Given the description of an element on the screen output the (x, y) to click on. 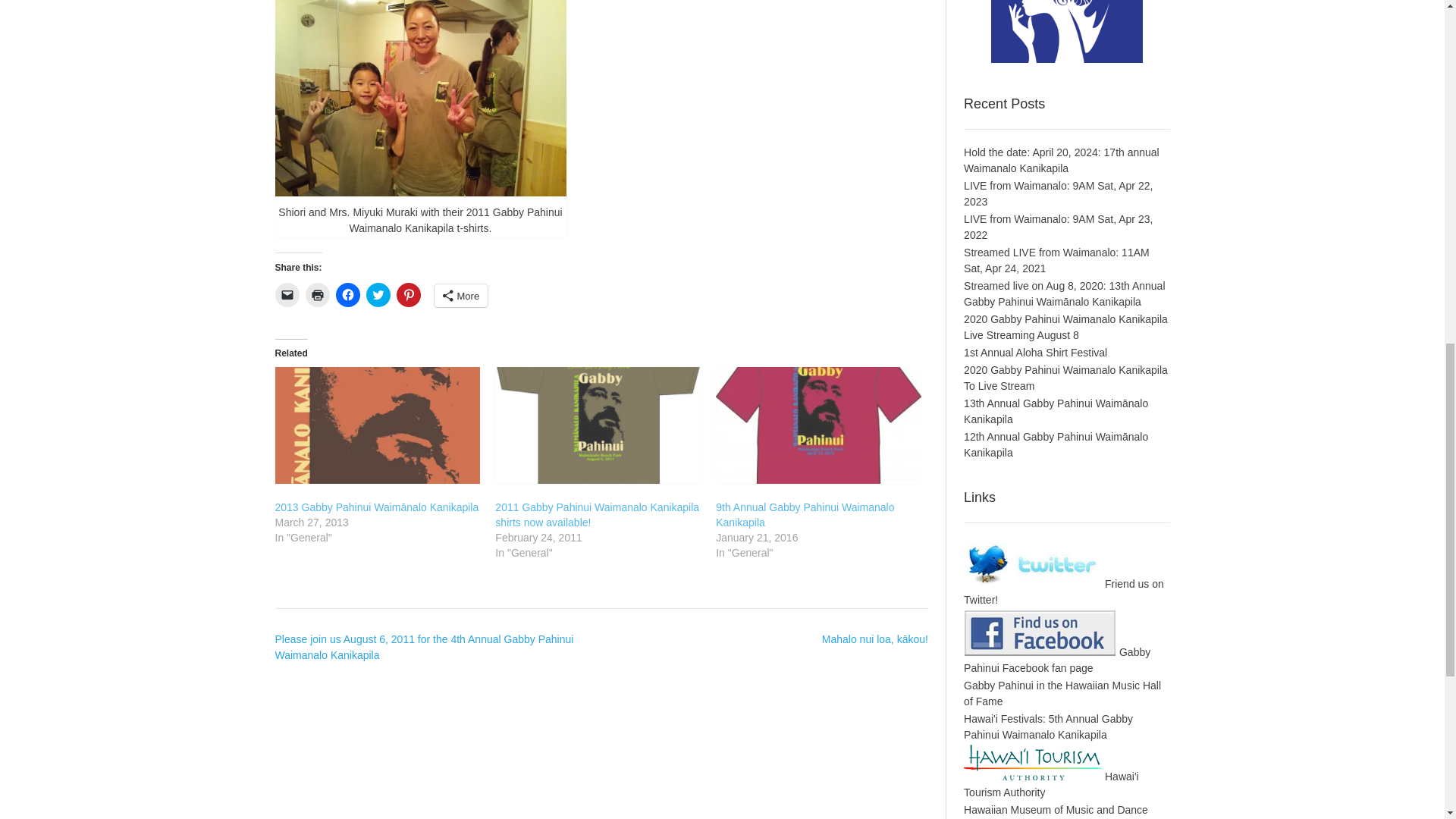
More (460, 295)
Click to email a link to a friend (286, 294)
Click to share on Twitter (377, 294)
Click to share on Pinterest (408, 294)
Click to share on Facebook (346, 294)
Click to print (316, 294)
9th Annual Gabby Pahinui Waimanalo Kanikapila (804, 514)
